Given the description of an element on the screen output the (x, y) to click on. 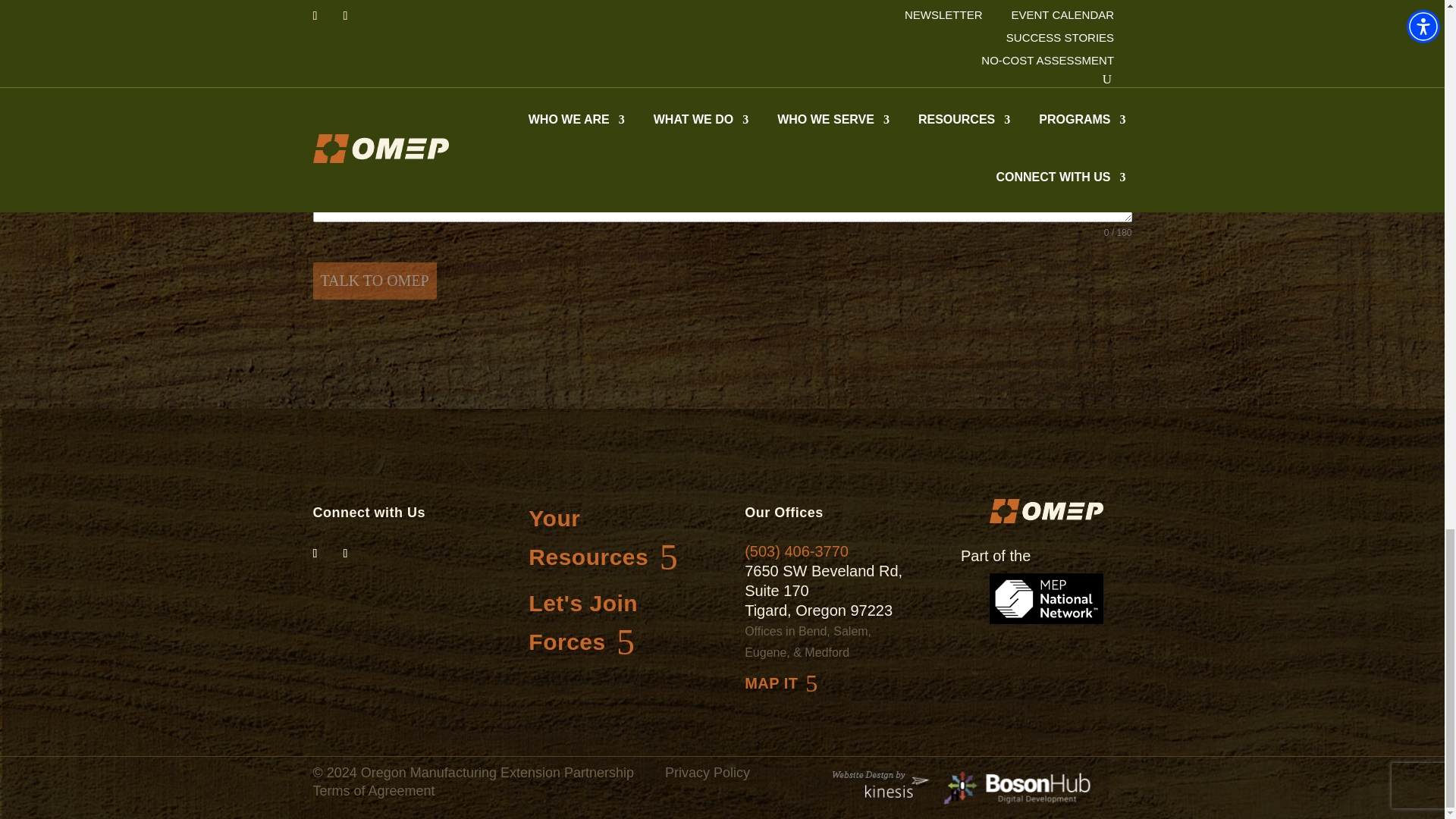
omep-logo (1046, 510)
MEPNN-logo-white (1046, 598)
Follow on Facebook (354, 553)
Follow on LinkedIn (324, 553)
